Given the description of an element on the screen output the (x, y) to click on. 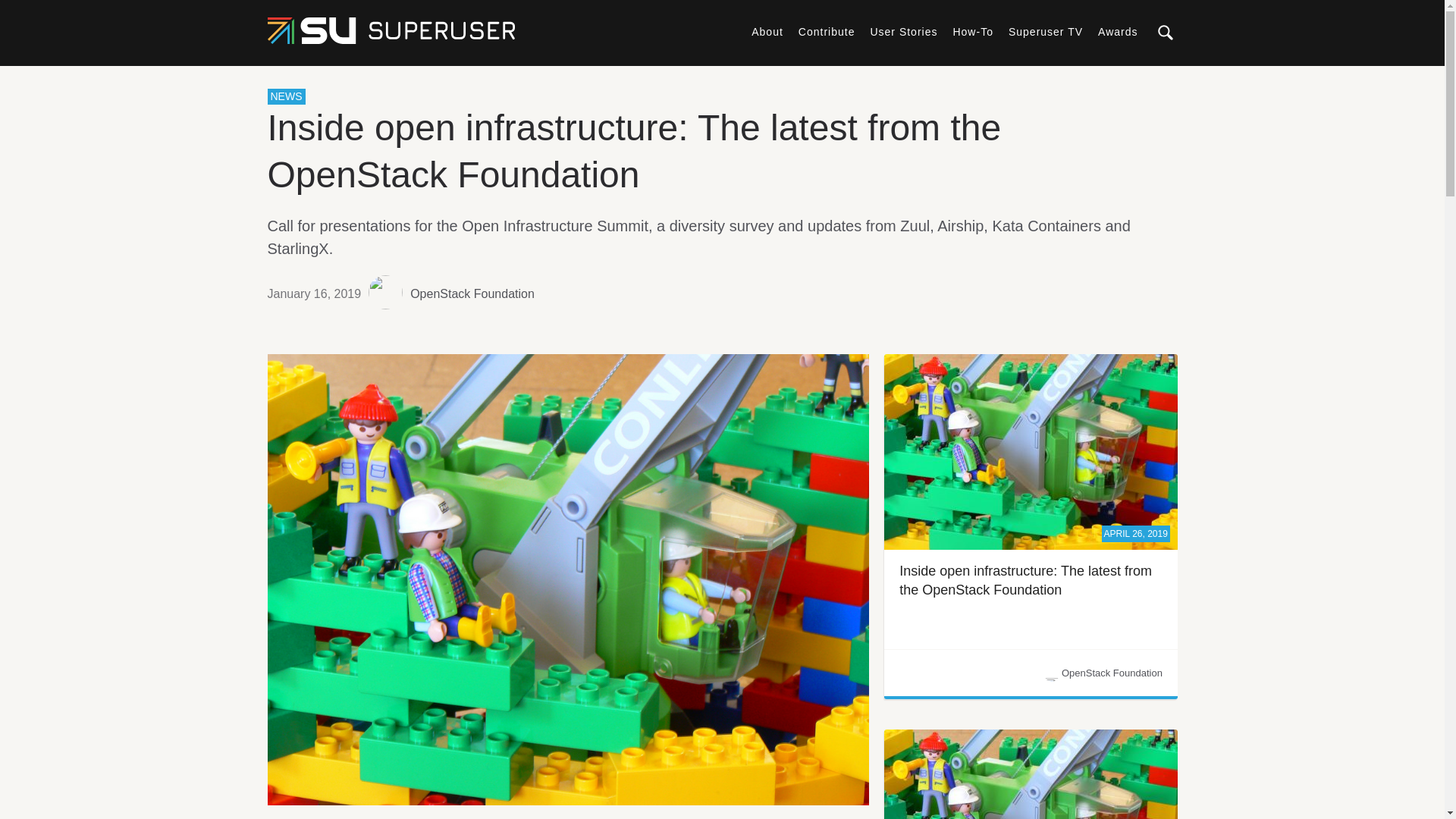
Awards (1117, 31)
User Stories (903, 31)
Contribute (826, 31)
Superuser TV (1046, 31)
Posts by OpenStack Foundation (472, 293)
About (767, 31)
Search (1391, 79)
How-To (972, 31)
OpenStack Foundation (472, 293)
